Given the description of an element on the screen output the (x, y) to click on. 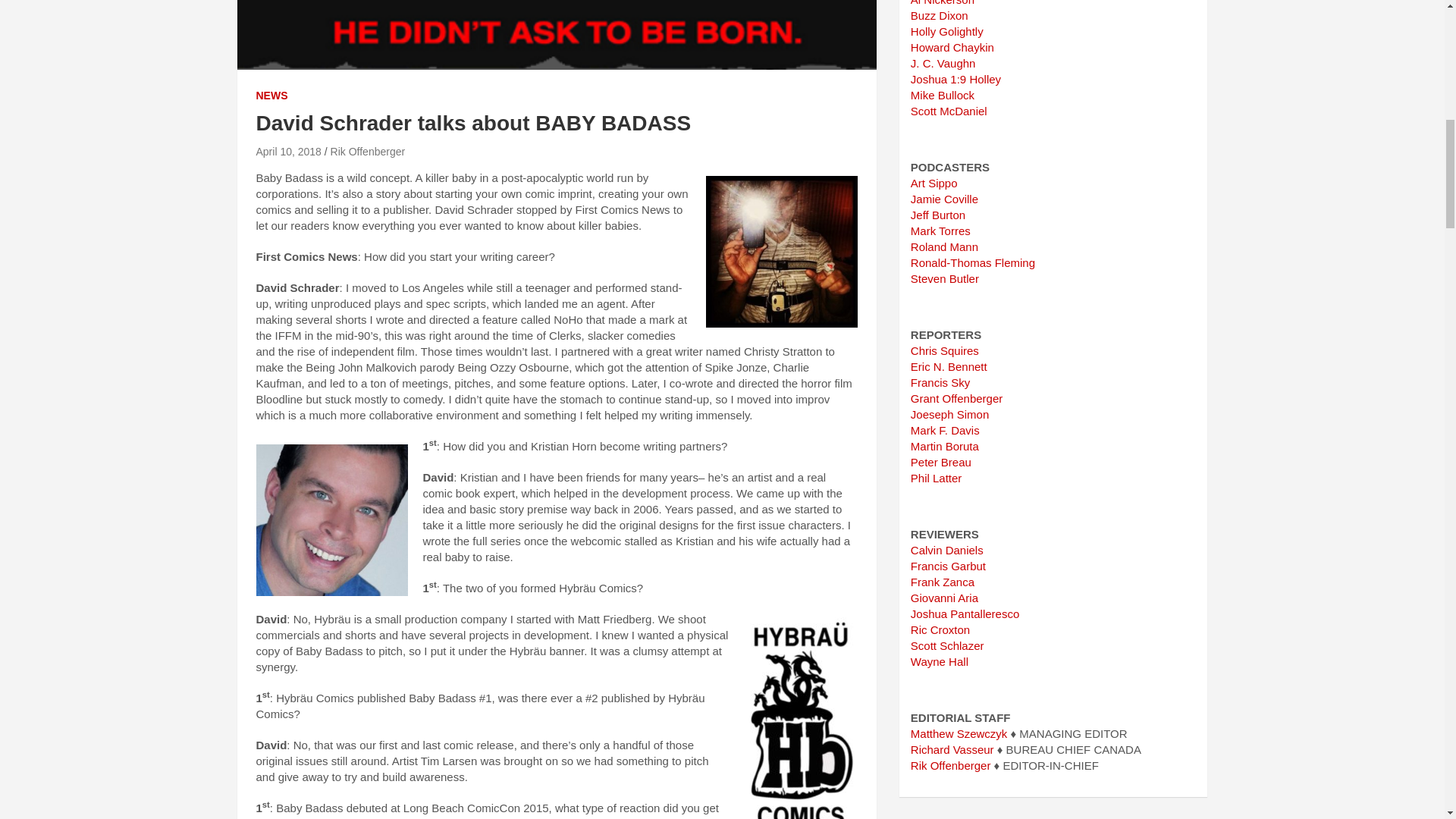
David Schrader talks about BABY BADASS (288, 151)
